Given the description of an element on the screen output the (x, y) to click on. 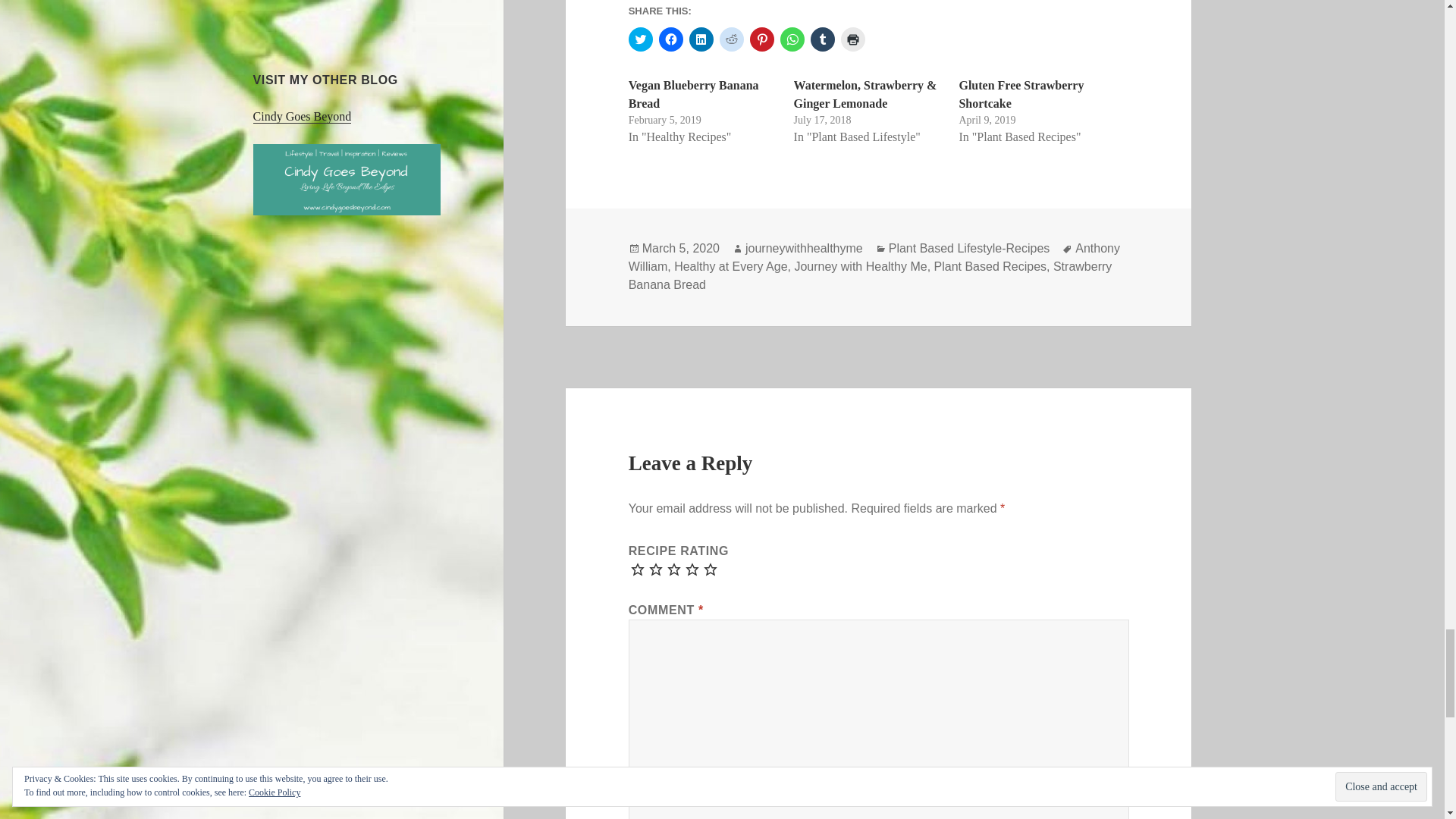
Click to share on LinkedIn (700, 39)
Gluten Free Strawberry Shortcake (1020, 93)
Click to share on Reddit (731, 39)
Click to share on WhatsApp (792, 39)
Click to share on Tumblr (822, 39)
Vegan Blueberry Banana Bread (693, 93)
Click to share on Twitter (640, 39)
Click to print (852, 39)
Click to share on Facebook (670, 39)
Click to share on Pinterest (761, 39)
